Given the description of an element on the screen output the (x, y) to click on. 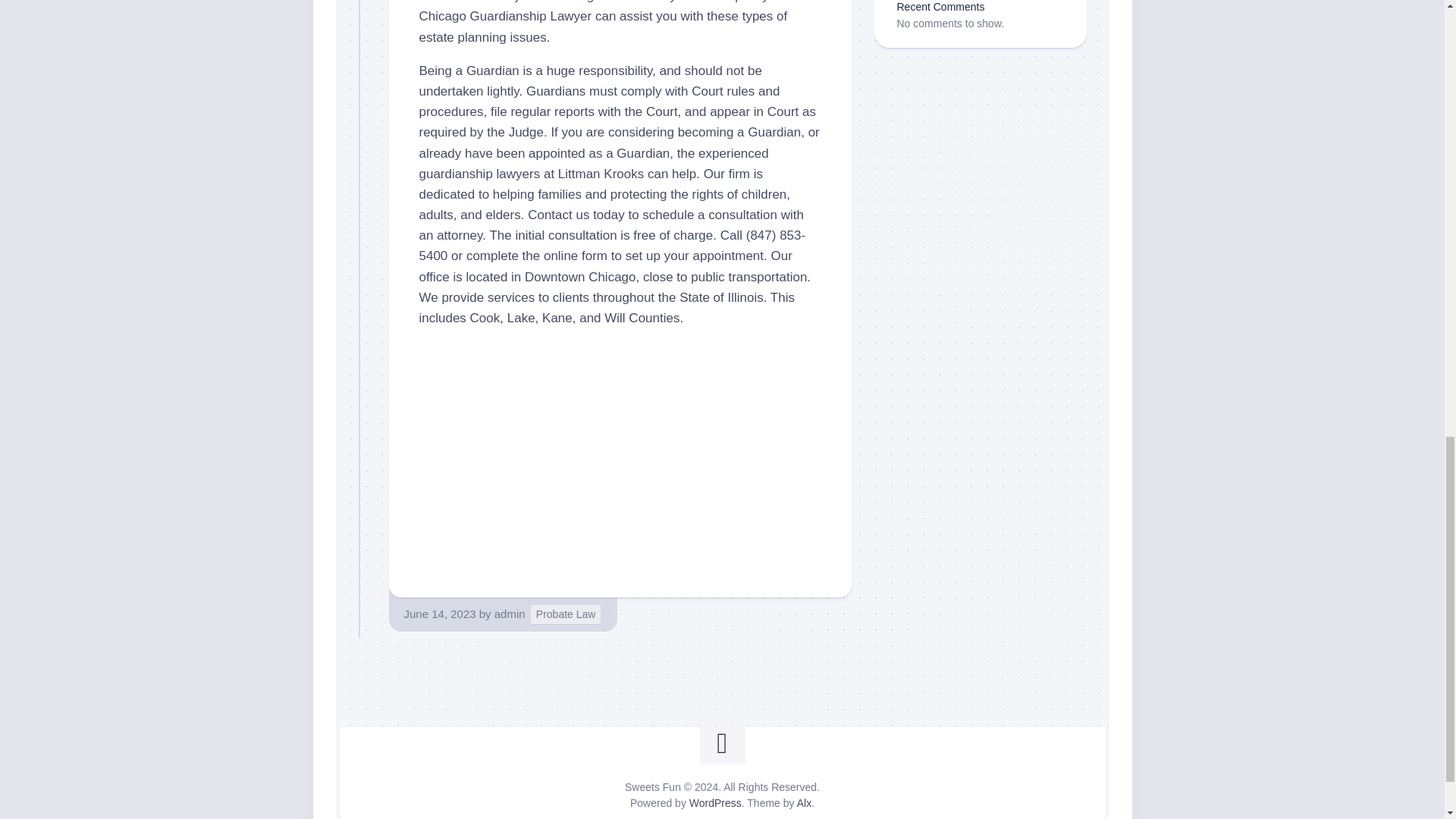
WordPress (714, 802)
admin (510, 613)
Probate Law (566, 614)
Posts by admin (510, 613)
Alx (803, 802)
YouTube video player (620, 454)
